Given the description of an element on the screen output the (x, y) to click on. 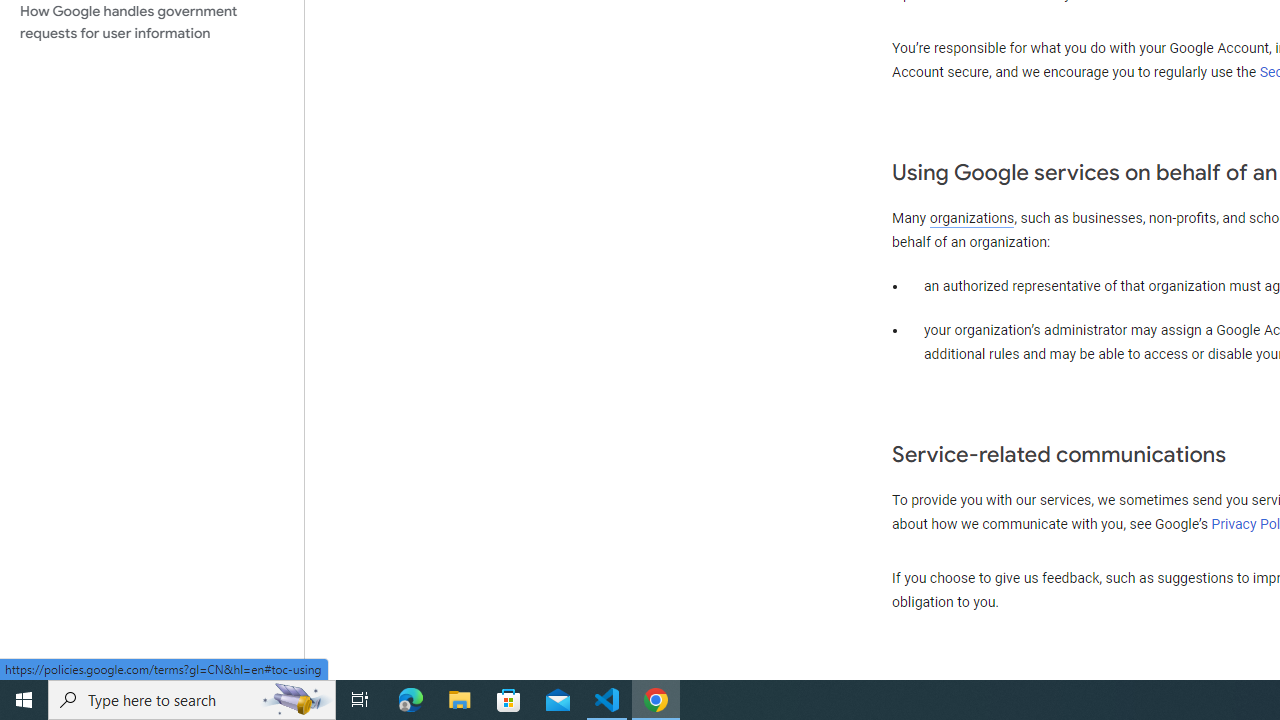
organizations (972, 218)
